Given the description of an element on the screen output the (x, y) to click on. 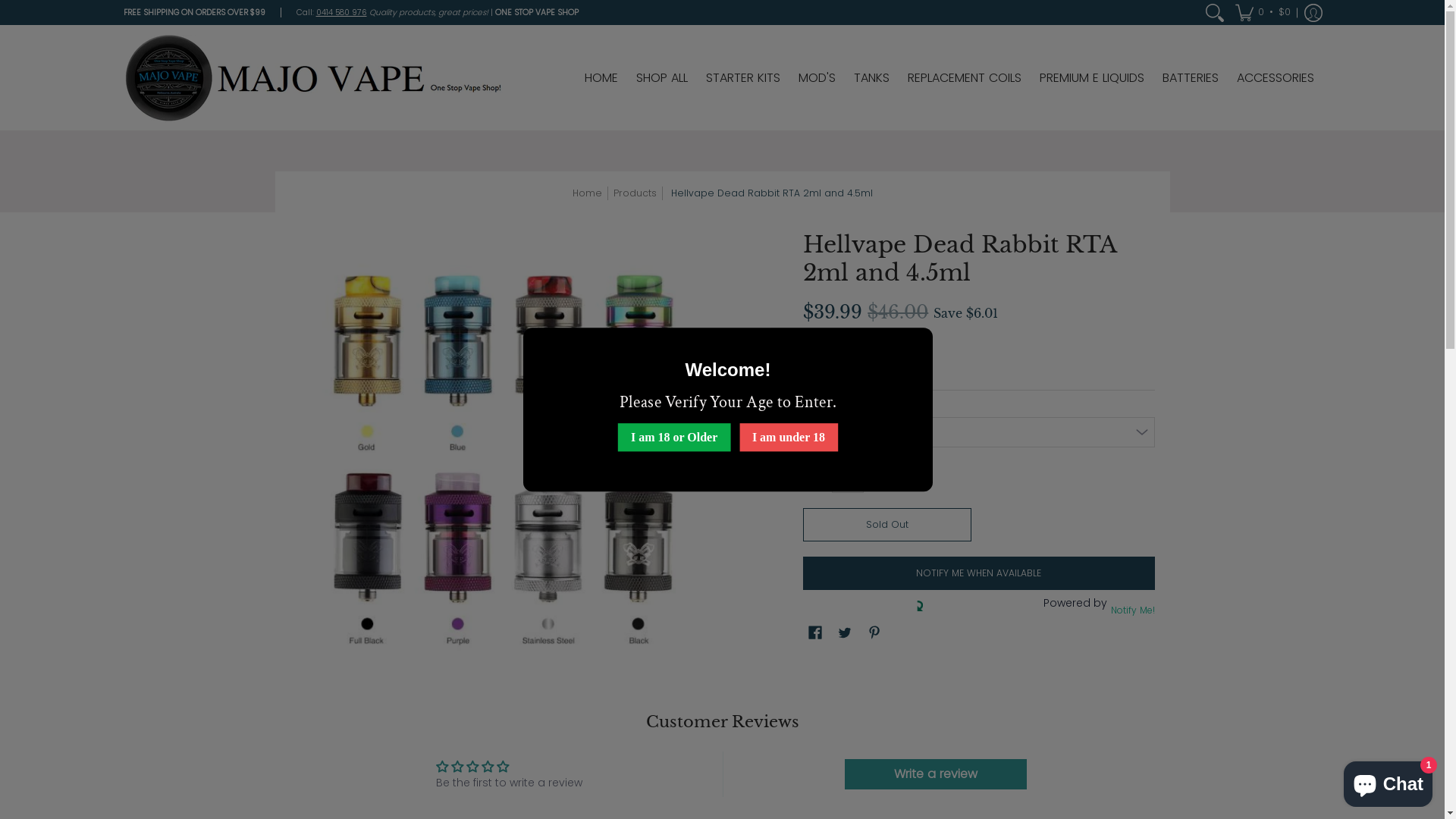
MajoVape  Element type: hover (312, 77)
ACCESSORIES Element type: text (1274, 77)
Log in Element type: hover (1312, 12)
REPLACEMENT COILS Element type: text (963, 77)
Products Element type: text (633, 192)
Notify Me! Element type: text (1130, 609)
Search Element type: hover (1214, 12)
TANKS Element type: text (871, 77)
0414 580 976 Element type: text (340, 12)
NOTIFY ME WHEN AVAILABLE Element type: text (978, 572)
Home Element type: text (586, 192)
Sold Out Element type: text (887, 524)
STARTER KITS Element type: text (742, 77)
Write a review Element type: text (935, 774)
SHOP ALL Element type: text (660, 77)
Shopify online store chat Element type: hover (1388, 780)
PREMIUM E LIQUIDS Element type: text (1091, 77)
MOD'S Element type: text (816, 77)
BATTERIES Element type: text (1189, 77)
HOME Element type: text (600, 77)
